Given the description of an element on the screen output the (x, y) to click on. 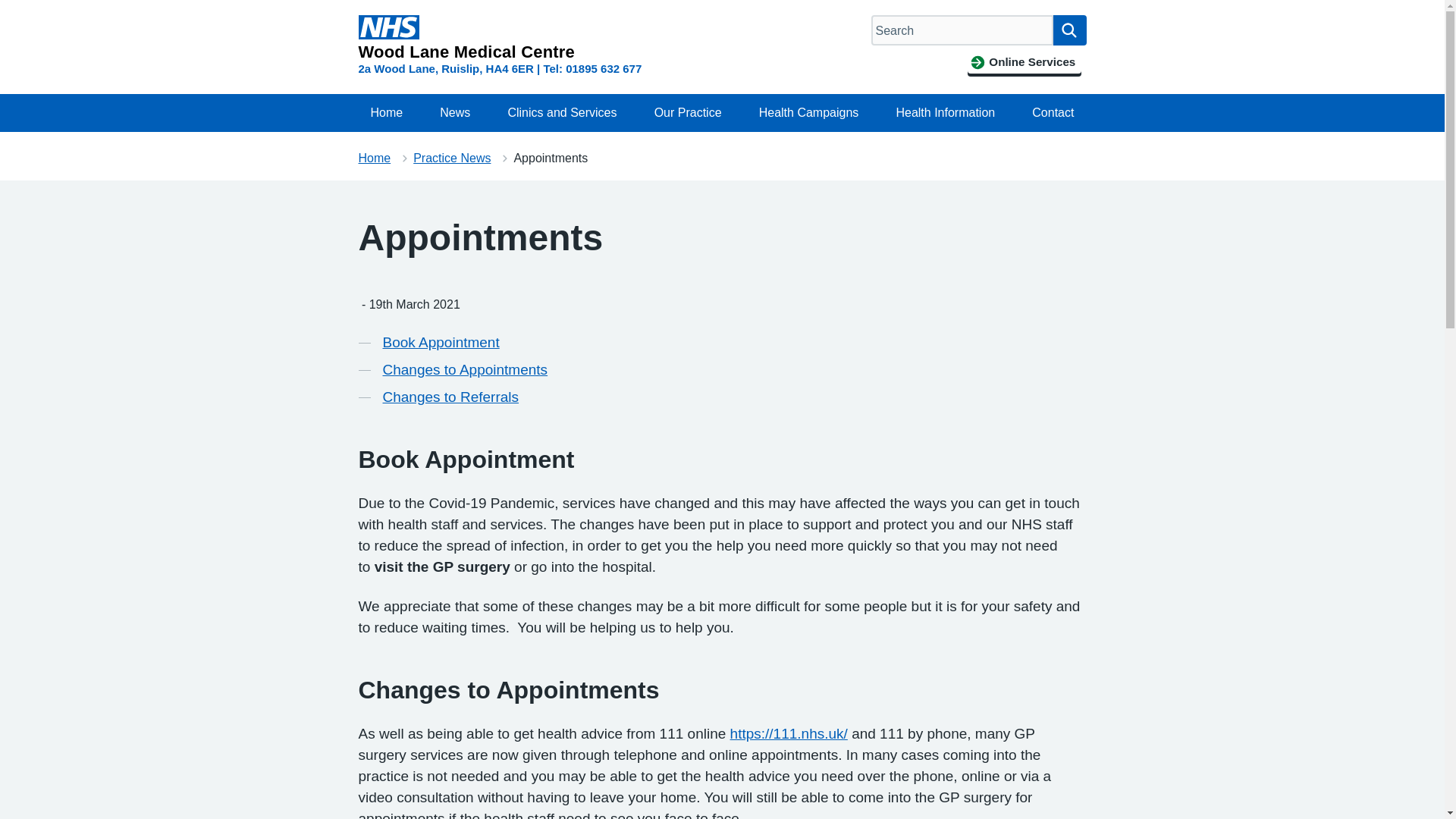
Practice News (451, 157)
Changes to Appointments (464, 369)
Our Practice (687, 112)
Book Appointment (440, 342)
NHS Logo (388, 27)
Home (386, 112)
Health Information (945, 112)
Online Services  (1024, 61)
News (454, 112)
Clinics and Services (561, 112)
Health Campaigns (808, 112)
Home (374, 157)
Contact (1053, 112)
Changes to Appointments (464, 369)
Changes to Referrals (449, 396)
